Given the description of an element on the screen output the (x, y) to click on. 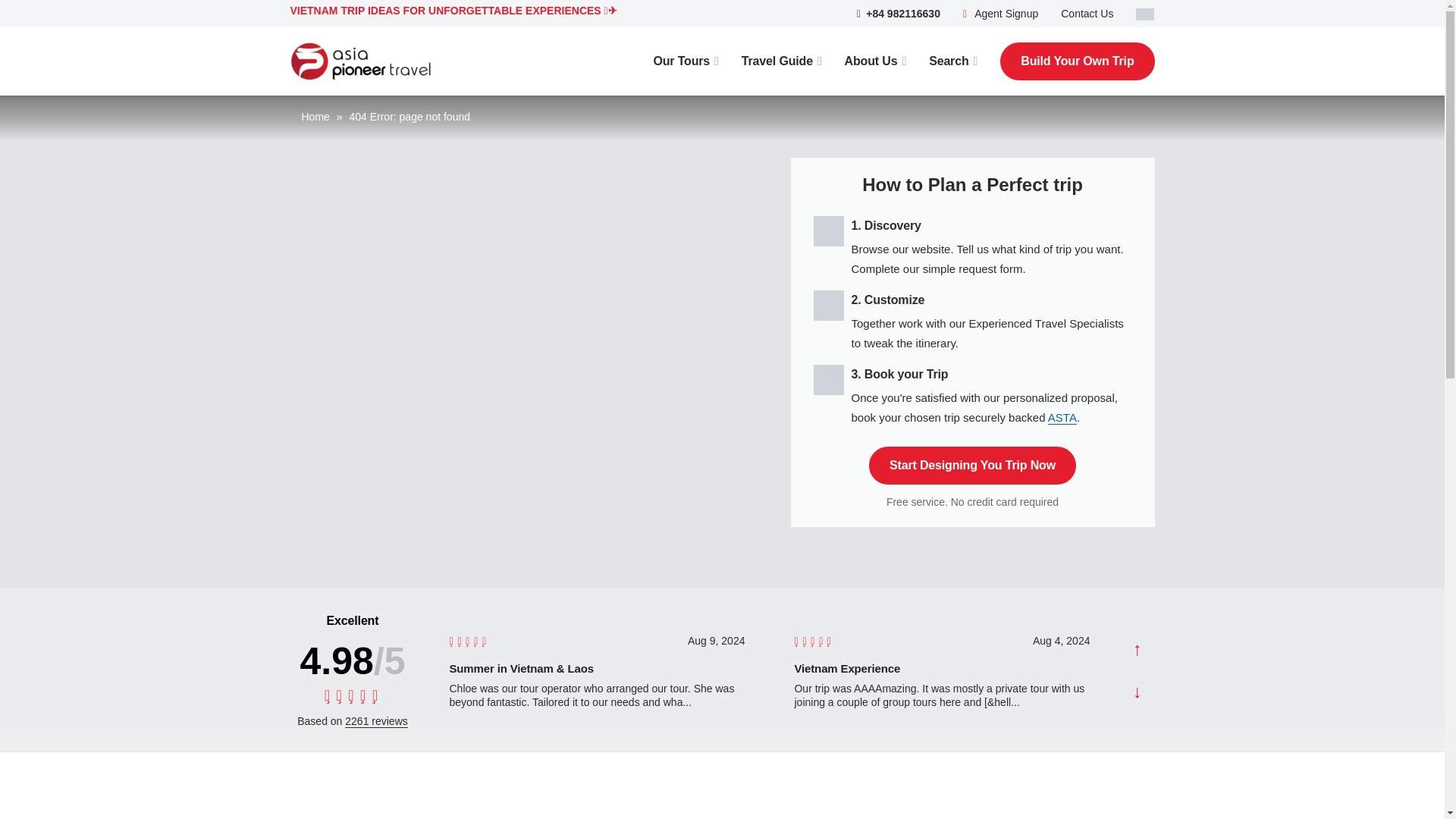
Travel Guide (781, 61)
Search (952, 61)
Our Tours (684, 61)
Agent Signup (1000, 13)
Contact Us (1087, 13)
About Us (875, 61)
